Given the description of an element on the screen output the (x, y) to click on. 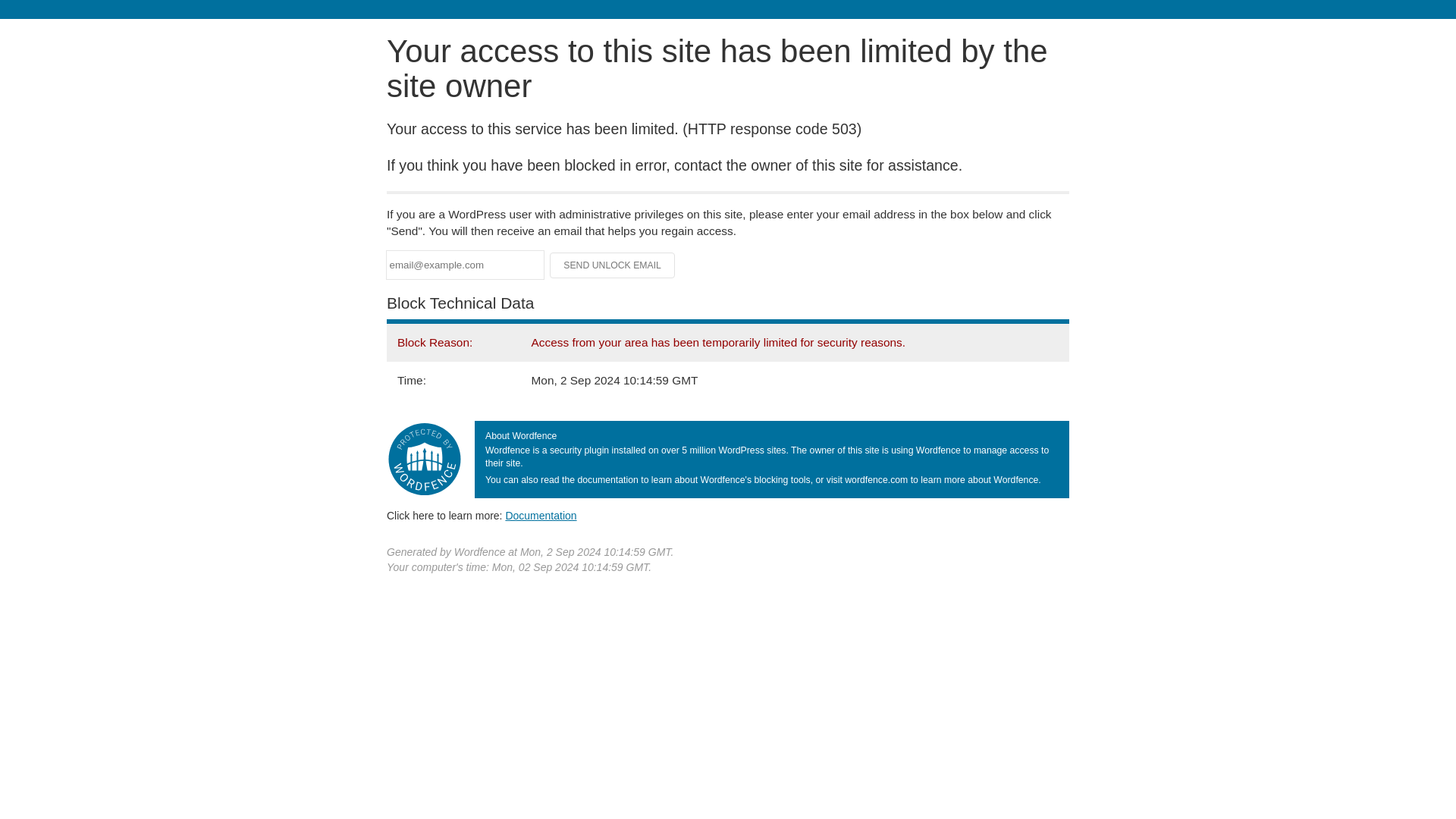
Send Unlock Email (612, 265)
Send Unlock Email (612, 265)
Documentation (540, 515)
